Given the description of an element on the screen output the (x, y) to click on. 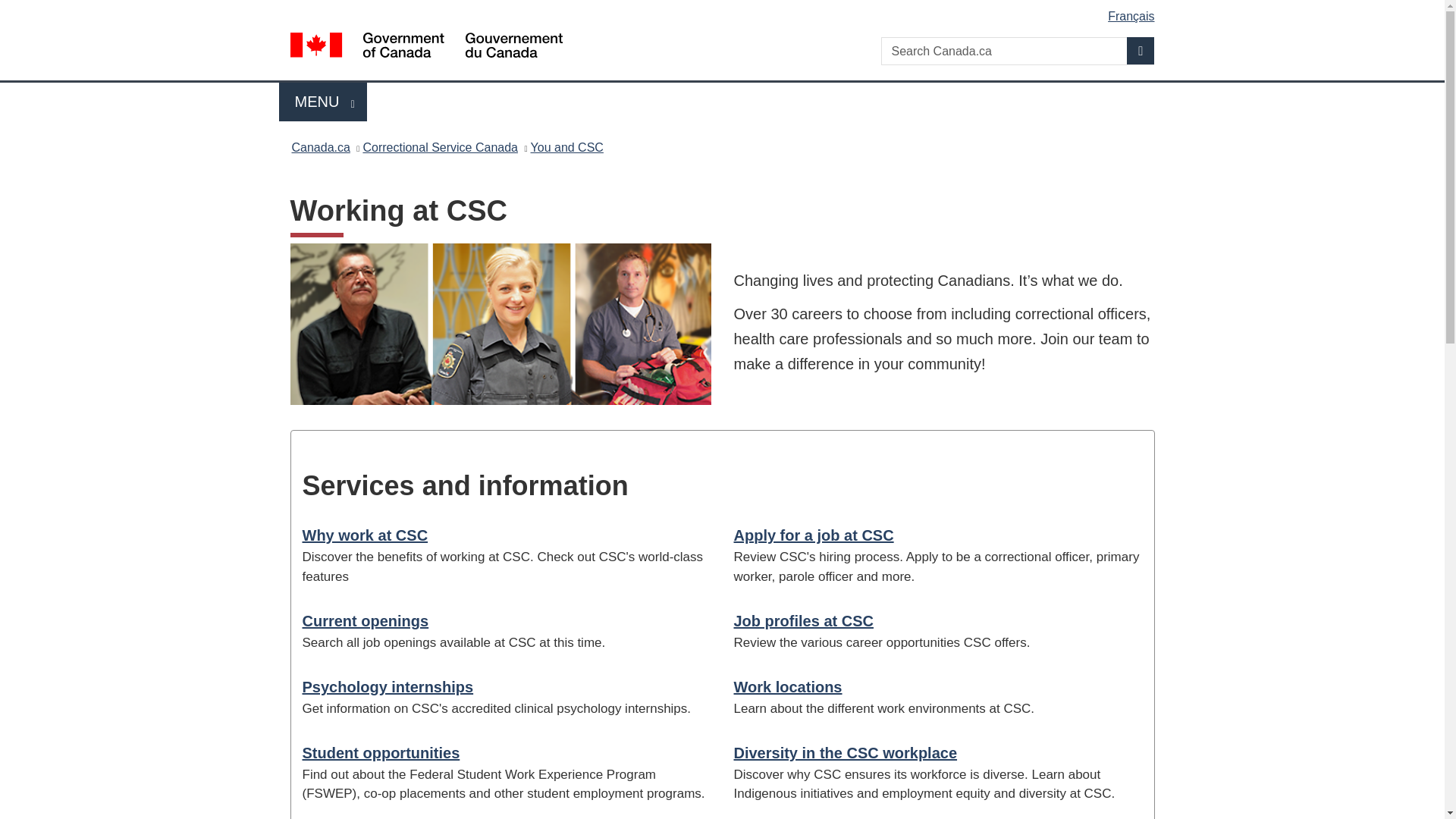
Student opportunities (380, 752)
Apply for a job at CSC (322, 101)
Canada.ca (813, 535)
Work locations (320, 147)
Search (788, 686)
Current openings (1140, 50)
Skip to main content (364, 620)
Diversity in the CSC workplace (725, 11)
Job profiles at CSC (845, 752)
Psychology internships (803, 620)
Why work at CSC (387, 686)
You and CSC (364, 535)
Correctional Service Canada (567, 147)
